Given the description of an element on the screen output the (x, y) to click on. 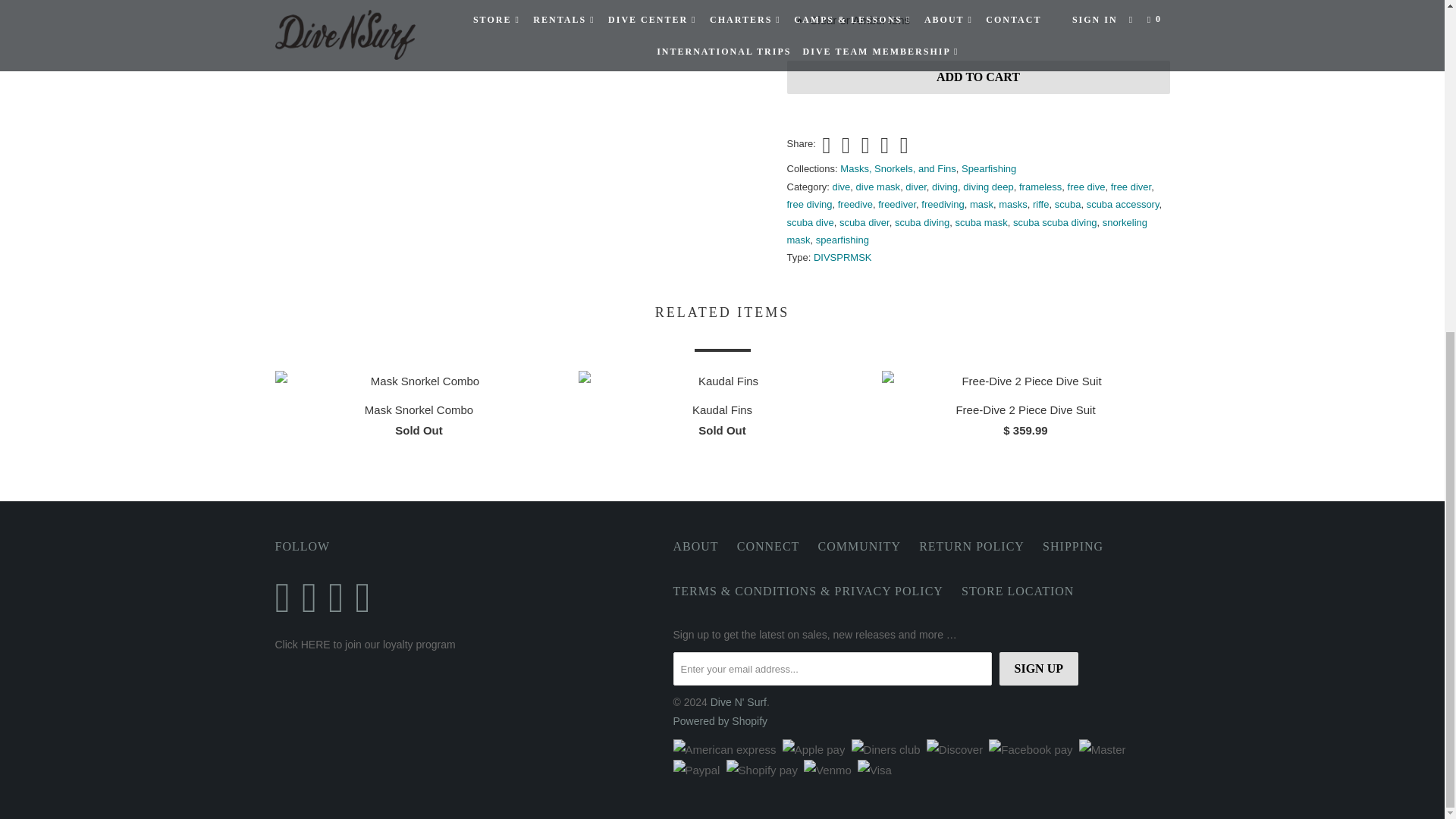
Products tagged diver (915, 186)
Products tagged dive mask (878, 186)
Spearfishing (988, 168)
Products tagged diving (944, 186)
Masks, Snorkels, and Fins (897, 168)
Sign Up (1038, 668)
Products tagged dive (841, 186)
